Given the description of an element on the screen output the (x, y) to click on. 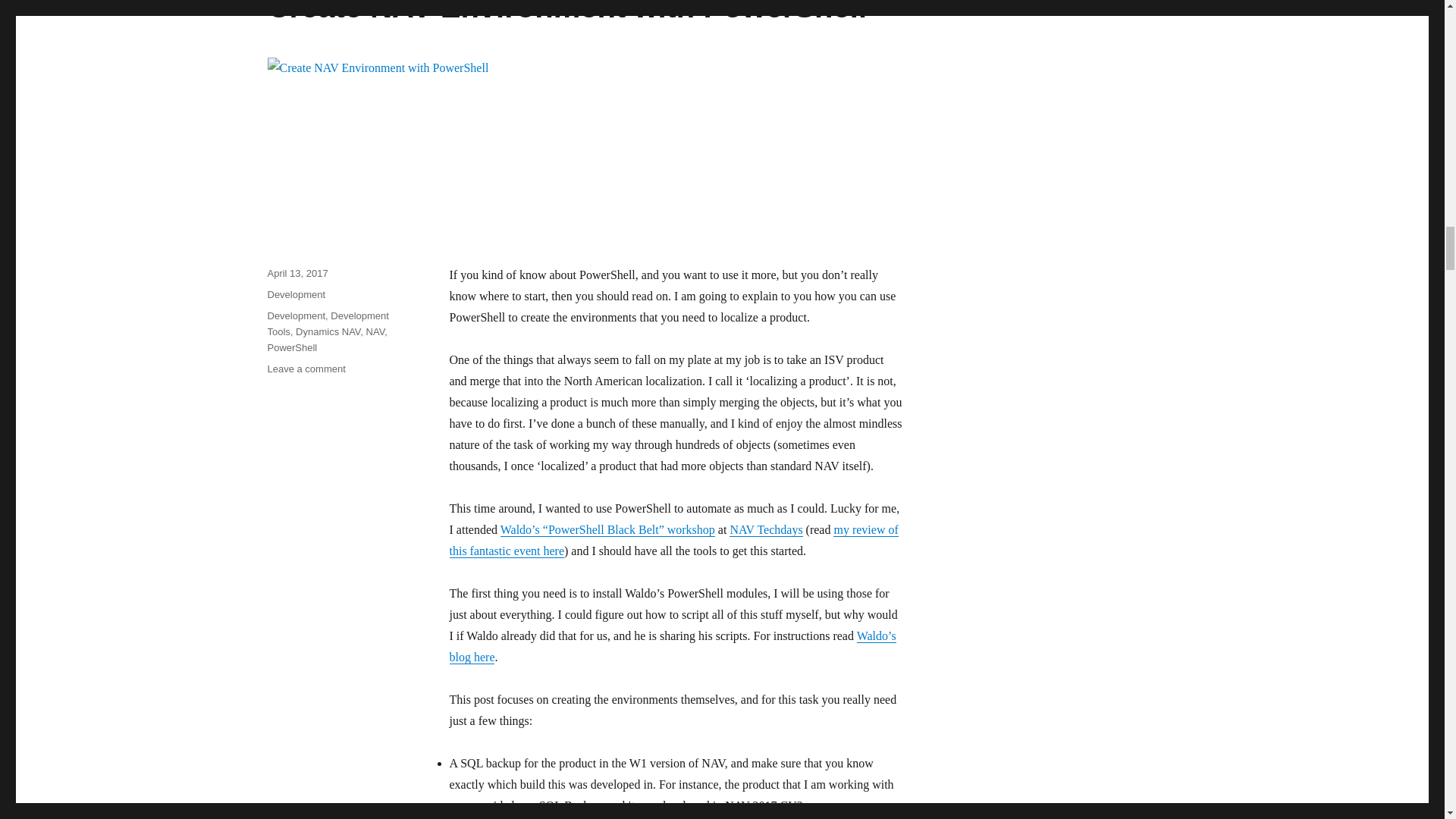
my review of this fantastic event here (673, 540)
Development (295, 315)
NAV Techdays (765, 529)
PowerShell (291, 347)
Development Tools (327, 323)
NAV (375, 331)
Create NAV Environment with PowerShell (566, 11)
April 13, 2017 (296, 273)
Dynamics NAV (327, 331)
Development (295, 294)
